Given the description of an element on the screen output the (x, y) to click on. 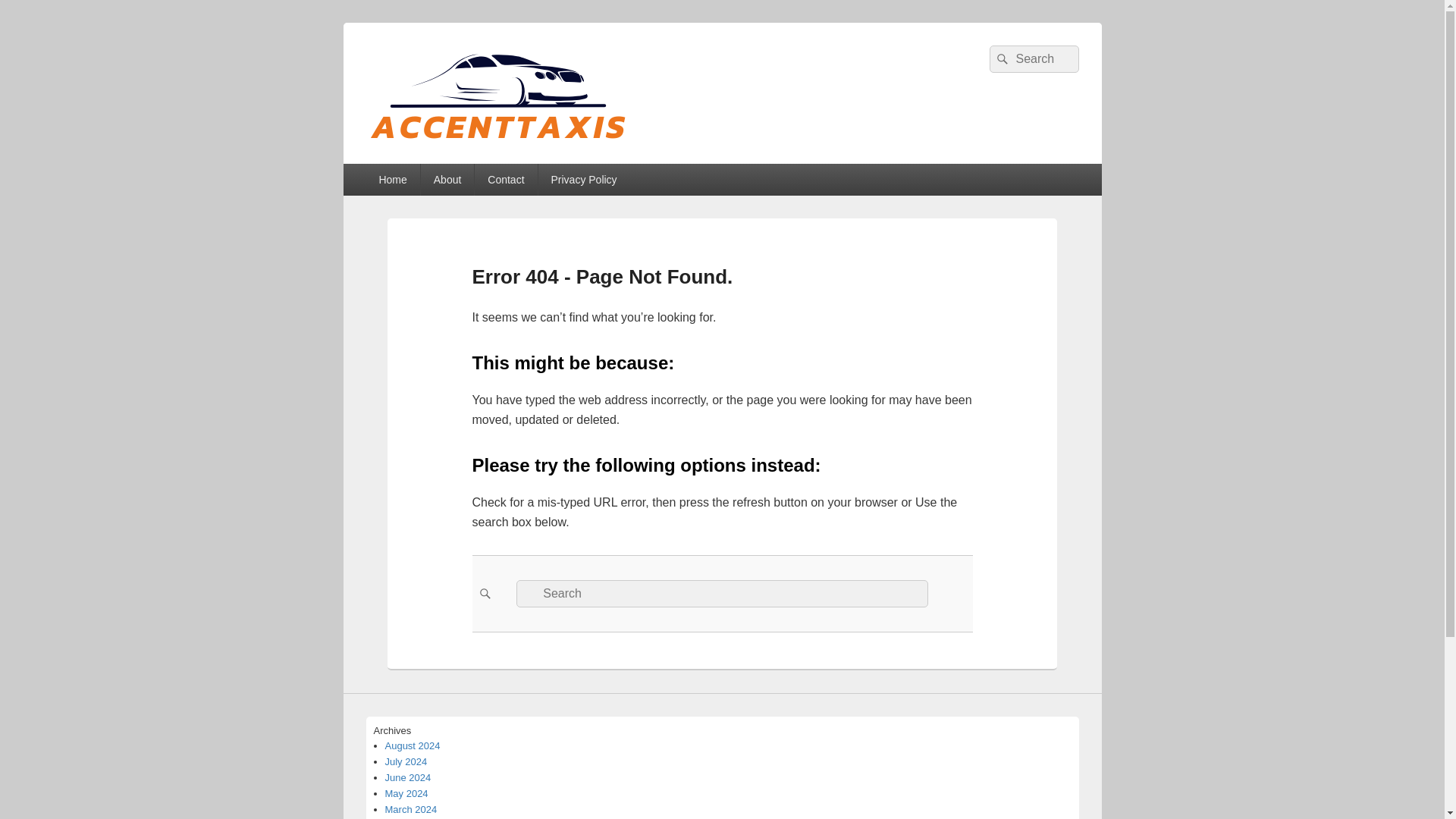
July 2024 (406, 761)
May 2024 (406, 793)
Search for: (1033, 58)
About (447, 179)
March 2024 (411, 808)
accenttaxis (439, 157)
Home (392, 179)
Search for: (722, 593)
Contact (505, 179)
June 2024 (407, 777)
